Given the description of an element on the screen output the (x, y) to click on. 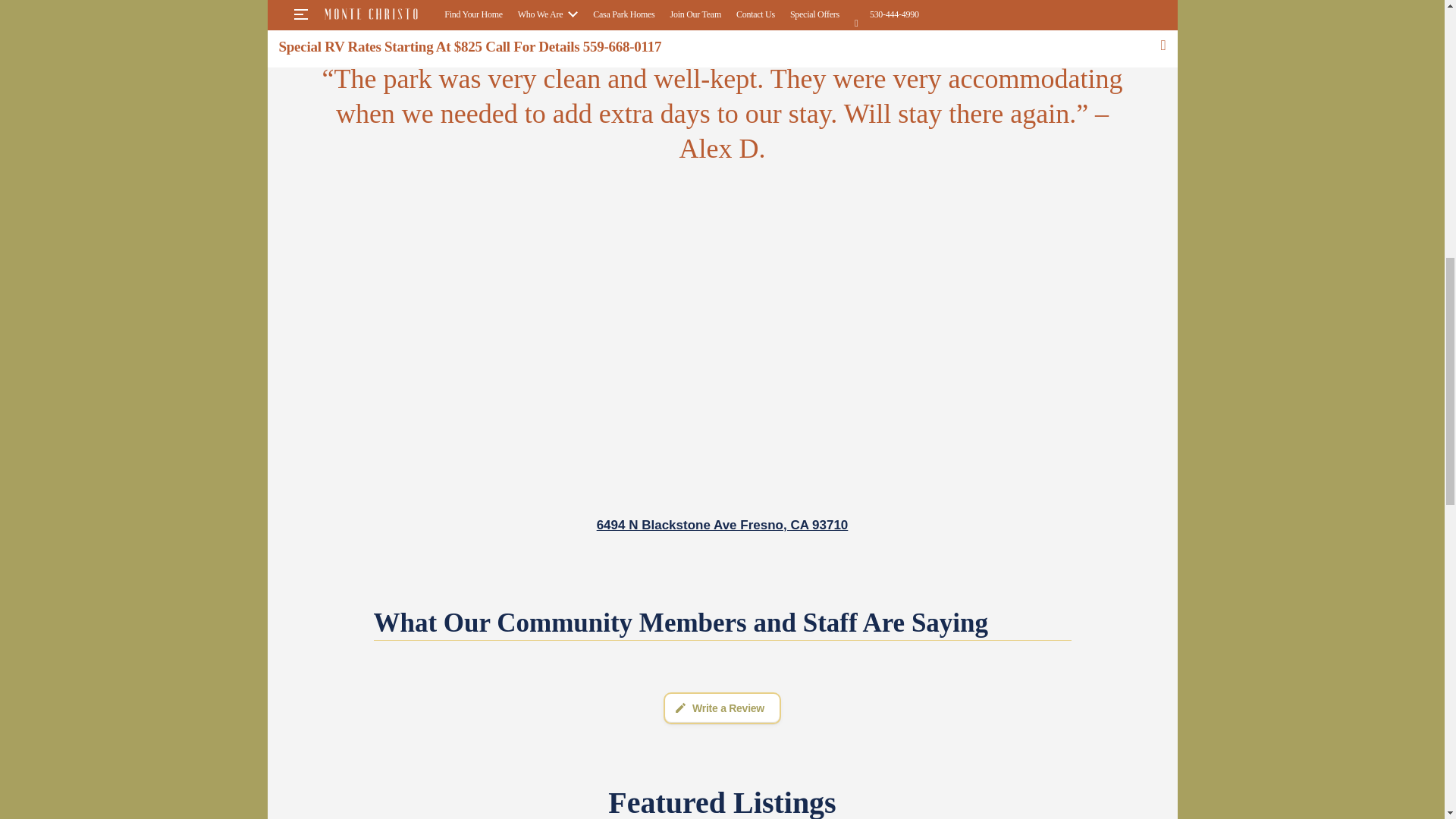
Write a Review (721, 707)
REQUEST A RESERVATION (925, 13)
6494 N Blackstone Ave Fresno, CA 93710 (722, 524)
